Given the description of an element on the screen output the (x, y) to click on. 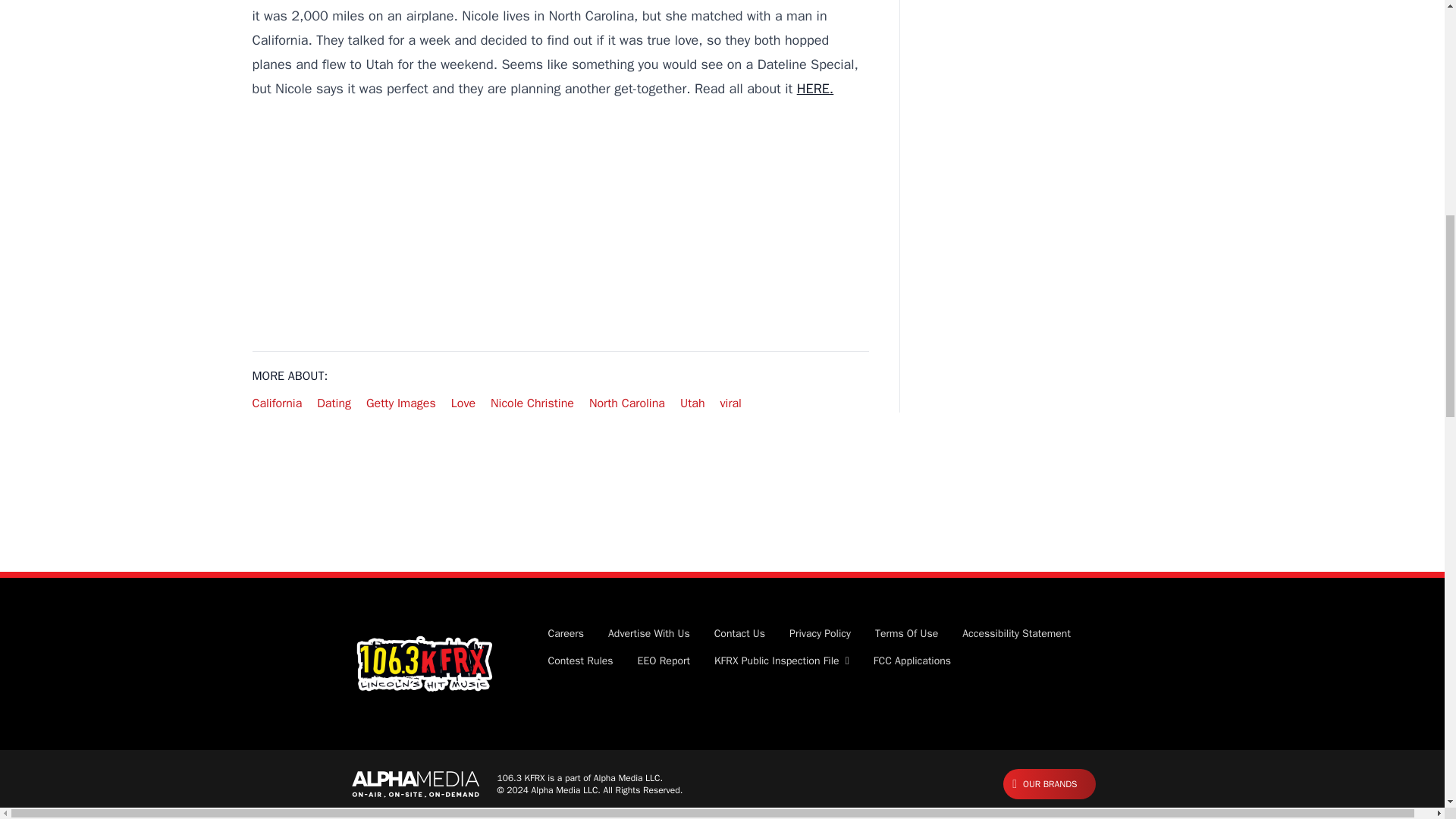
3rd party ad content (721, 522)
3rd party ad content (560, 226)
